Given the description of an element on the screen output the (x, y) to click on. 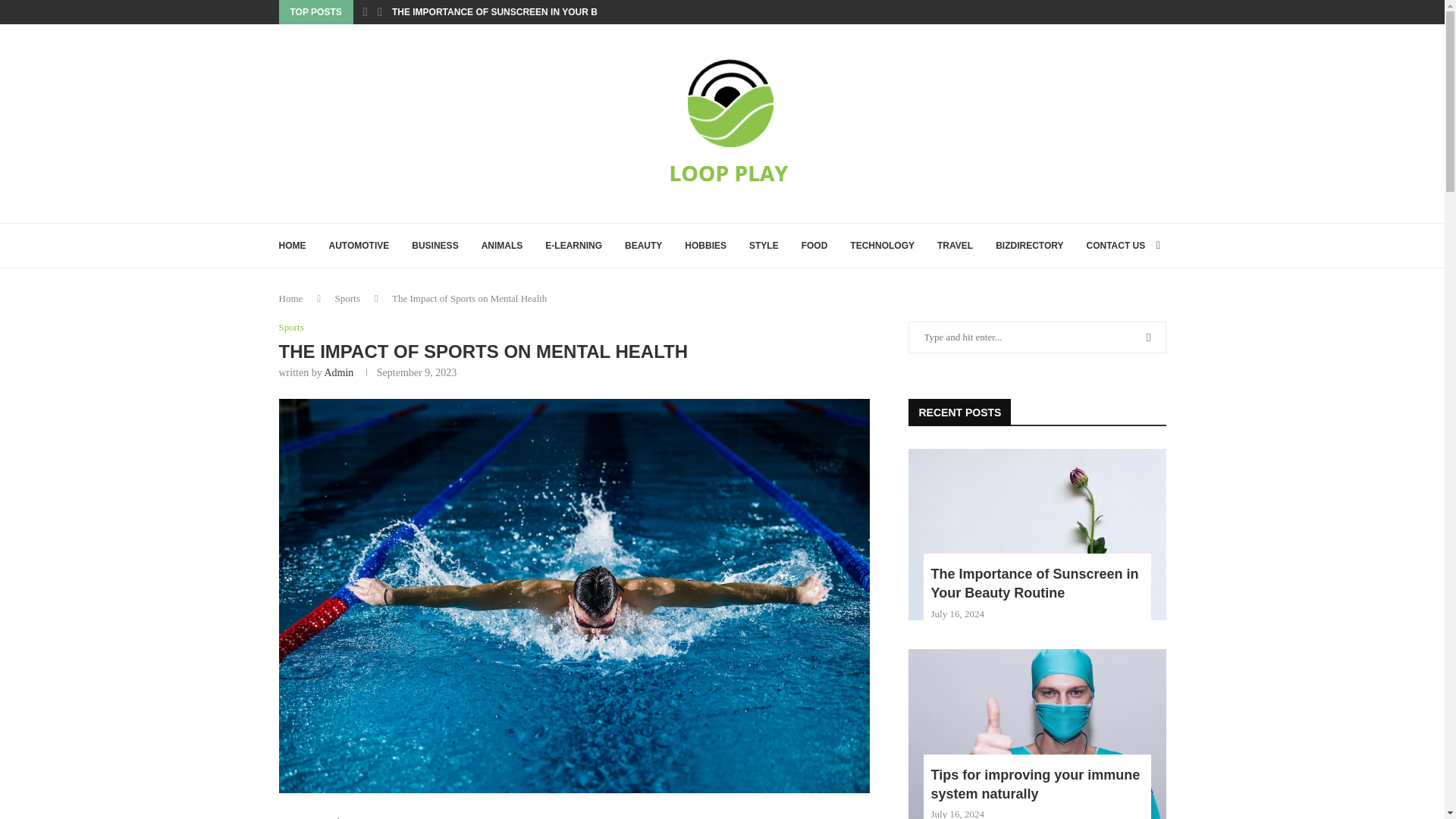
ANIMALS (501, 245)
HOBBIES (705, 245)
THE IMPORTANCE OF SUNSCREEN IN YOUR BEAUTY ROUTINE (531, 12)
BIZDIRECTORY (1028, 245)
TECHNOLOGY (882, 245)
AUTOMOTIVE (359, 245)
Home (290, 297)
CONTACT US (1115, 245)
E-LEARNING (573, 245)
BUSINESS (435, 245)
